Given the description of an element on the screen output the (x, y) to click on. 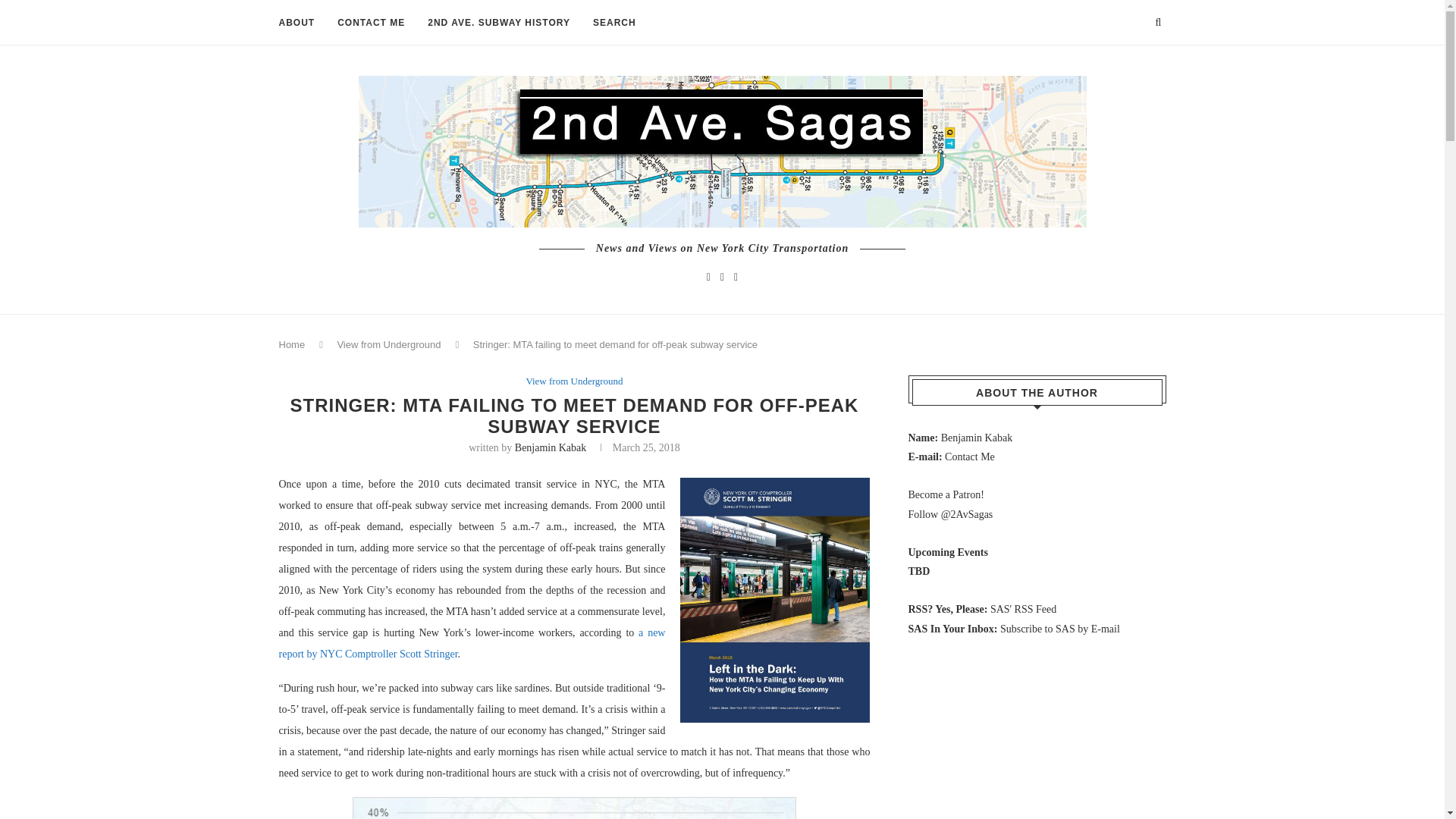
2ND AVE. SUBWAY HISTORY (499, 22)
View from Underground (574, 381)
Home (292, 344)
SEARCH (614, 22)
CONTACT ME (370, 22)
a new report by NYC Comptroller Scott Stringer (472, 643)
Benjamin Kabak (550, 447)
View from Underground (388, 344)
